Given the description of an element on the screen output the (x, y) to click on. 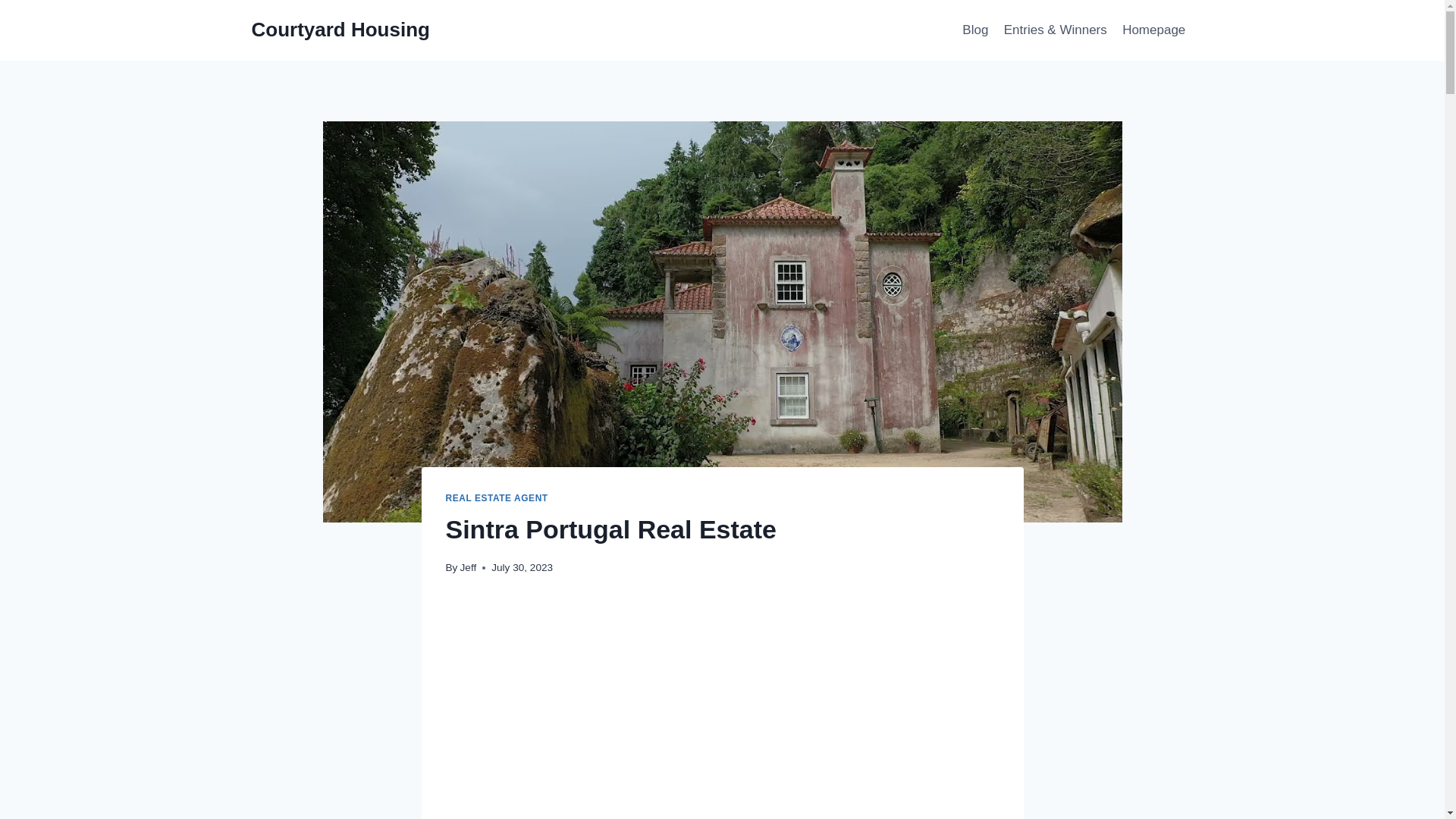
Homepage (1154, 30)
T13 - Quinta Santo Antonio da Serra in Sintra, Portugal (721, 709)
Courtyard Housing (340, 29)
Jeff (468, 567)
REAL ESTATE AGENT (496, 498)
Blog (975, 30)
